Given the description of an element on the screen output the (x, y) to click on. 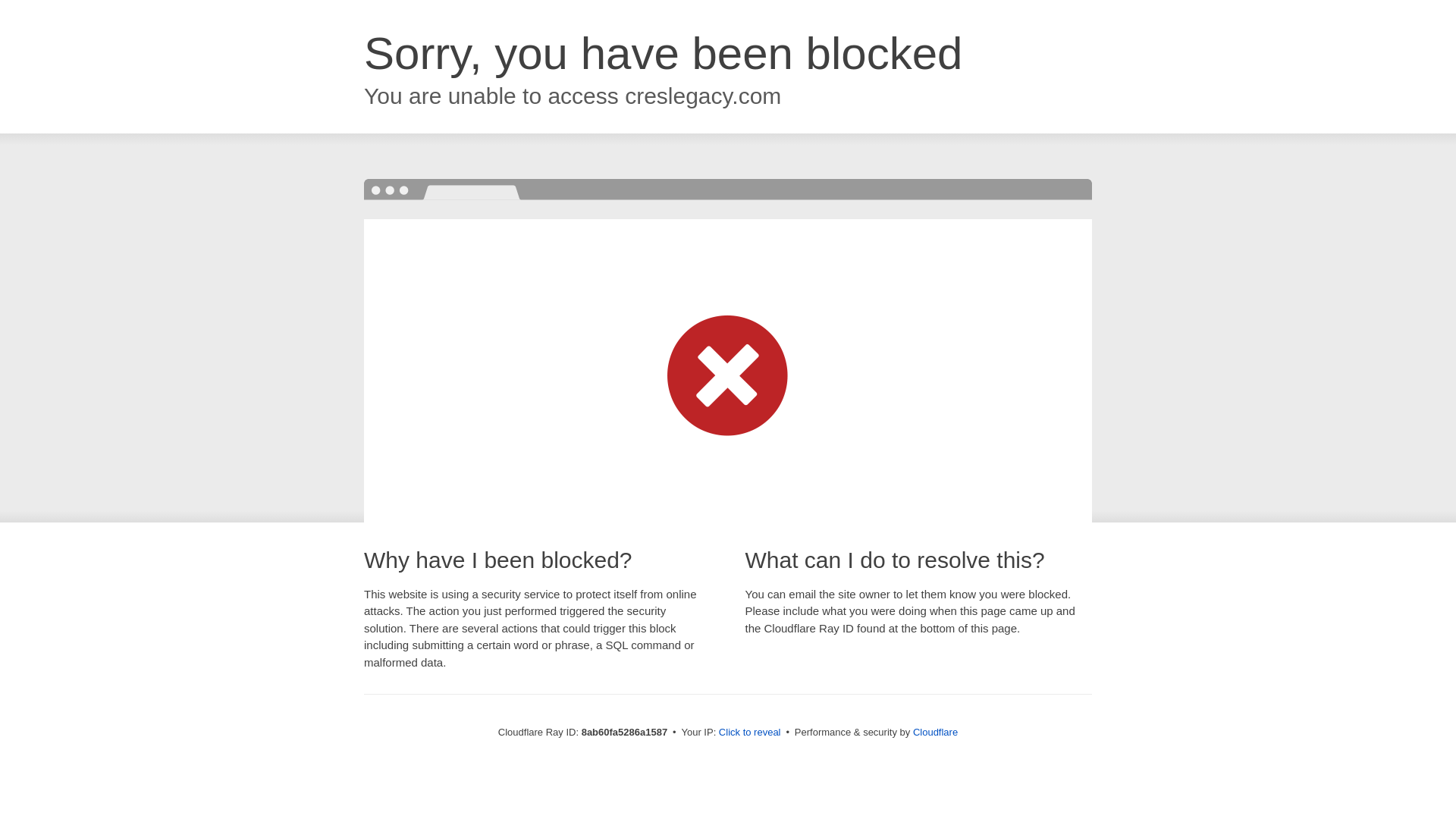
Cloudflare (935, 731)
Click to reveal (749, 732)
